Given the description of an element on the screen output the (x, y) to click on. 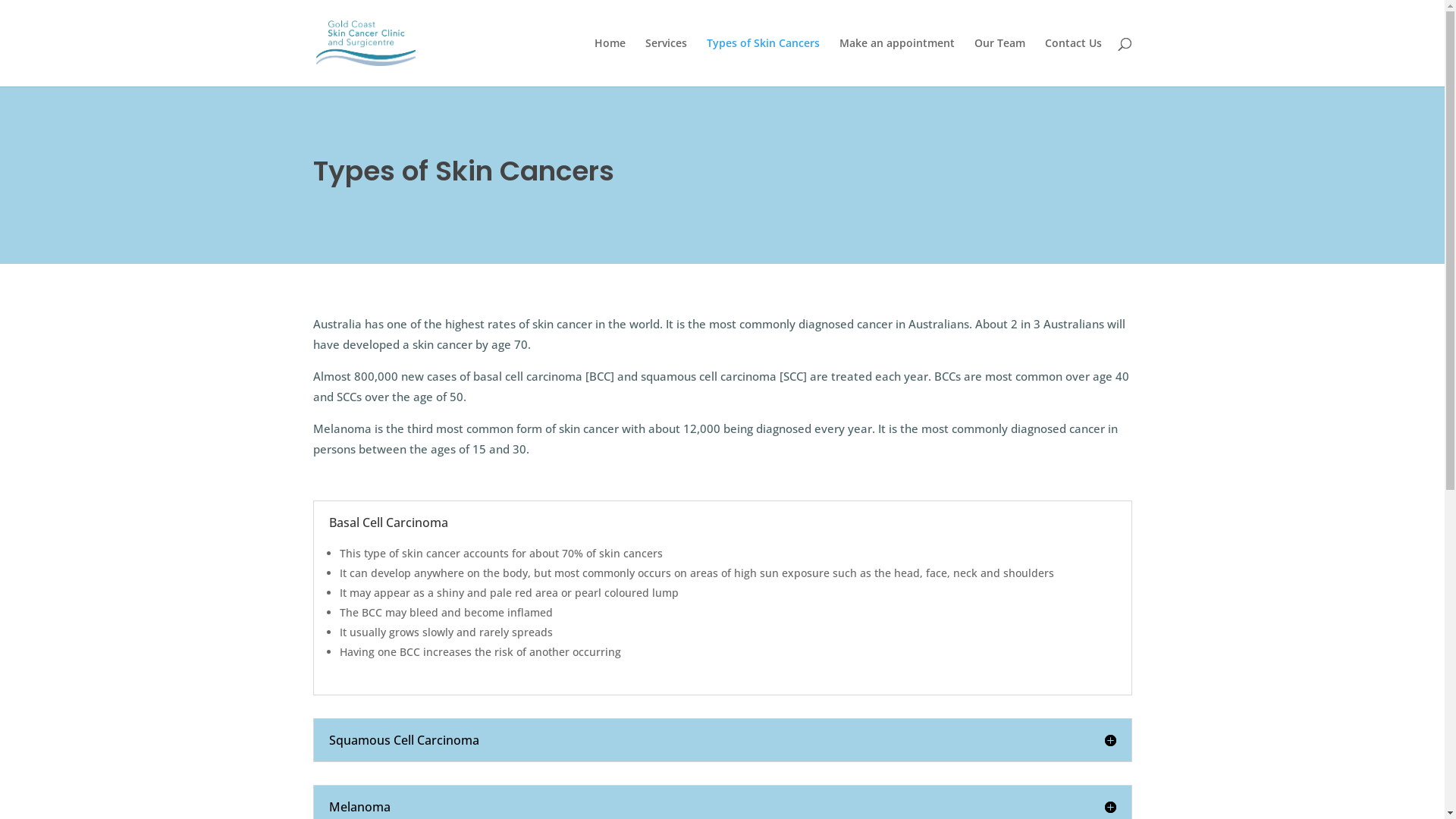
Home Element type: text (609, 61)
Make an appointment Element type: text (895, 61)
Contact Us Element type: text (1072, 61)
Types of Skin Cancers Element type: text (762, 61)
Our Team Element type: text (998, 61)
Services Element type: text (665, 61)
